Given the description of an element on the screen output the (x, y) to click on. 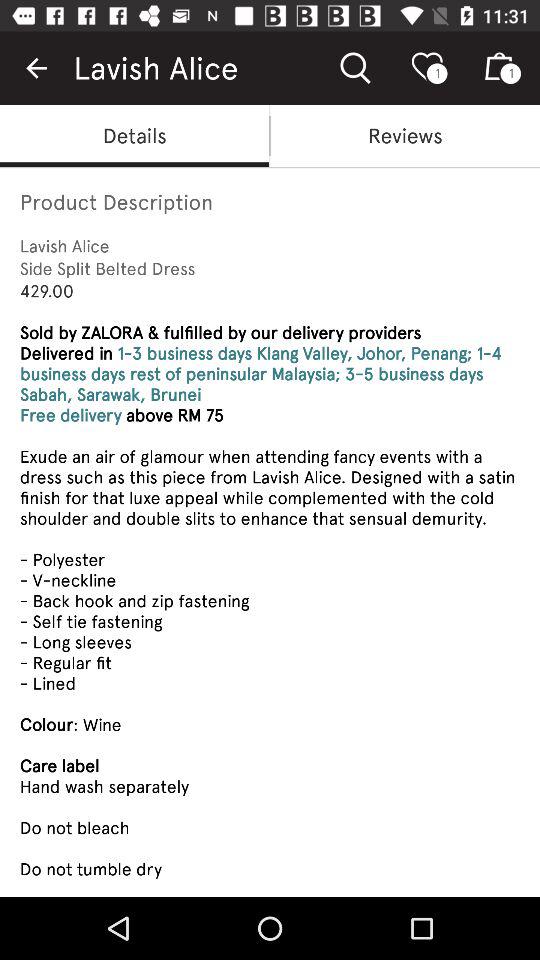
scroll until details item (134, 135)
